Given the description of an element on the screen output the (x, y) to click on. 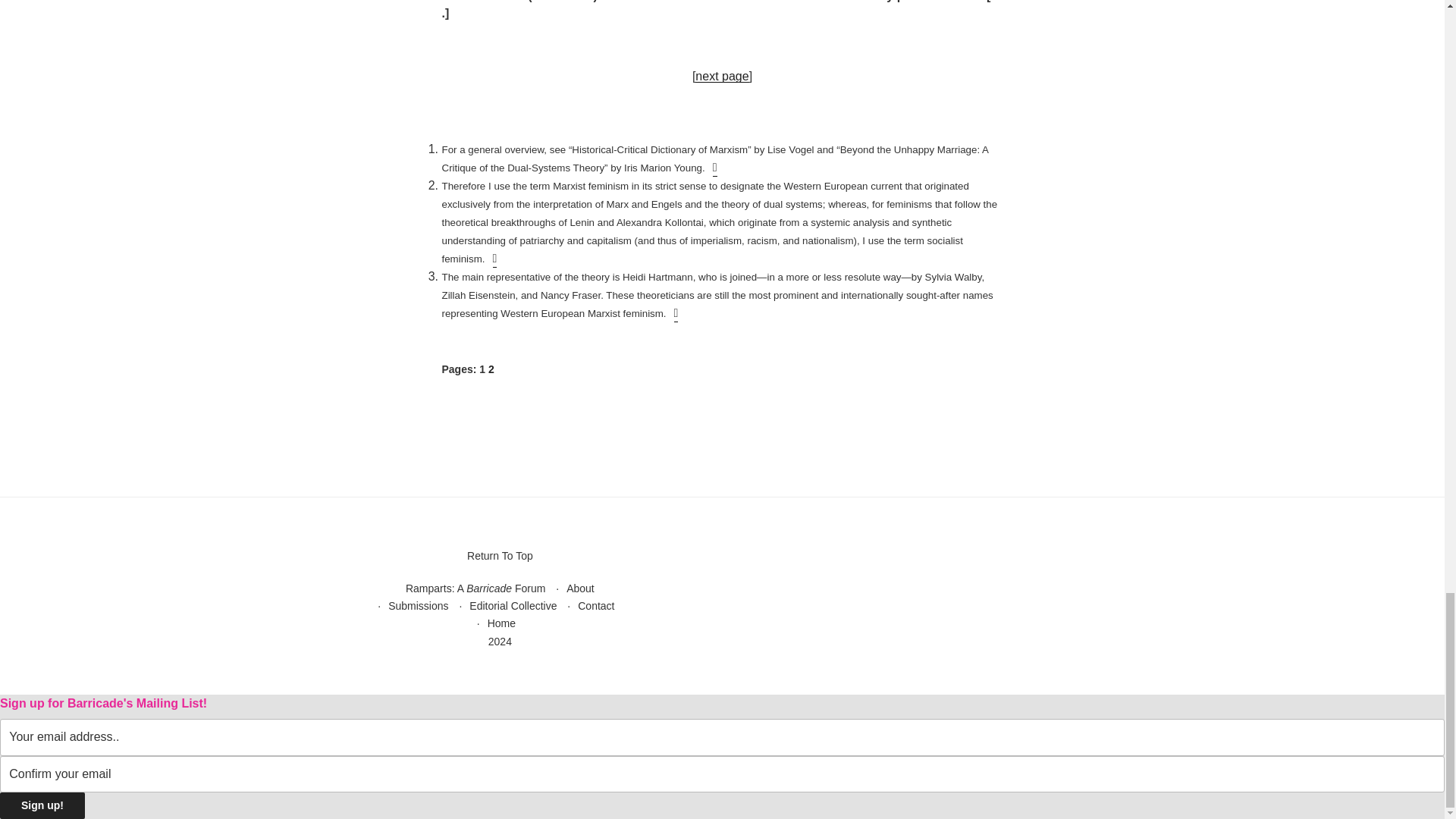
About (580, 588)
Contact (596, 605)
next page (721, 75)
Home (501, 623)
Editorial Collective (512, 605)
Submissions (418, 605)
Ramparts: A Barricade Forum (475, 588)
